Given the description of an element on the screen output the (x, y) to click on. 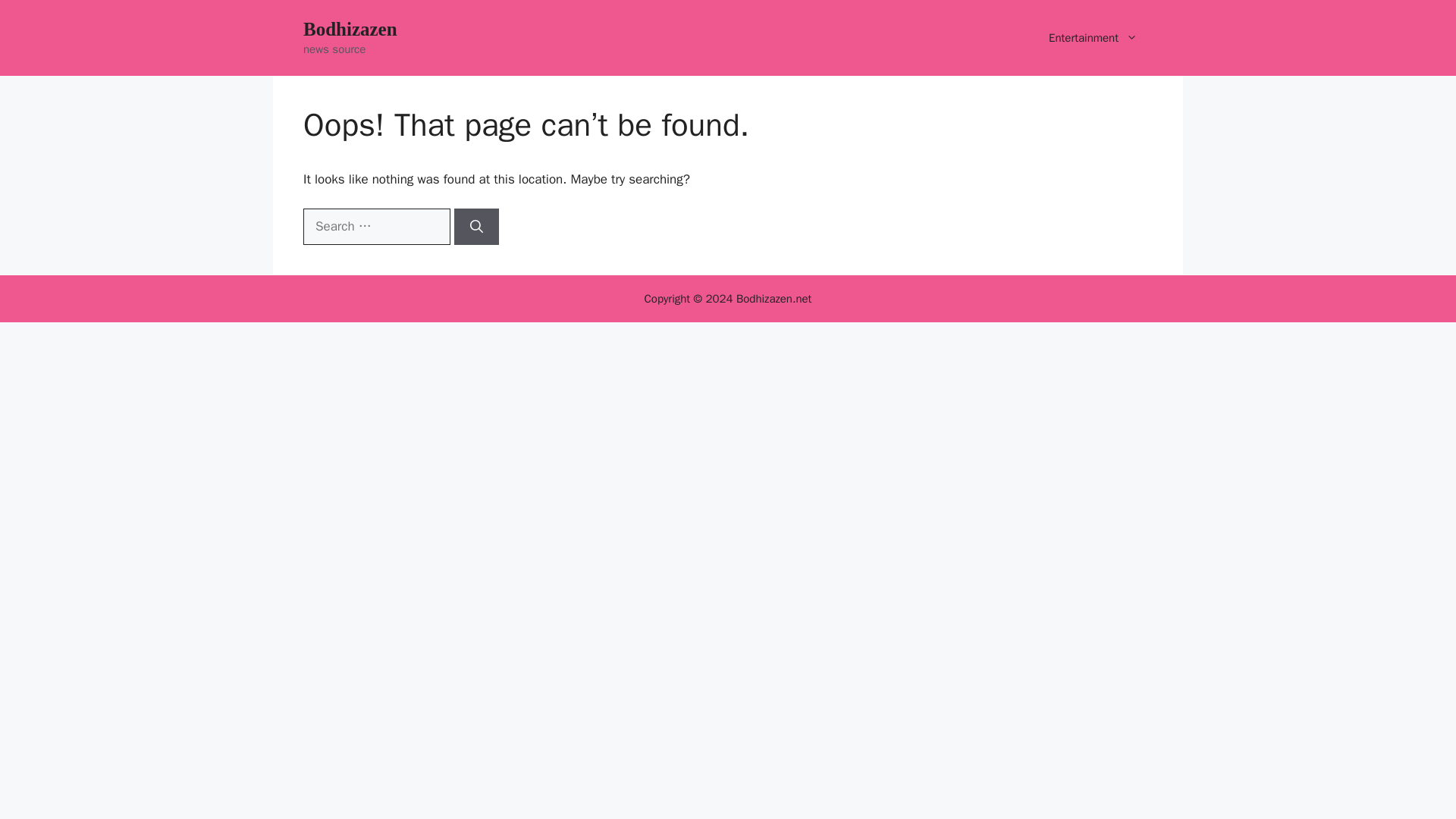
Bodhizazen (349, 28)
Entertainment (1093, 37)
Search for: (375, 226)
